Given the description of an element on the screen output the (x, y) to click on. 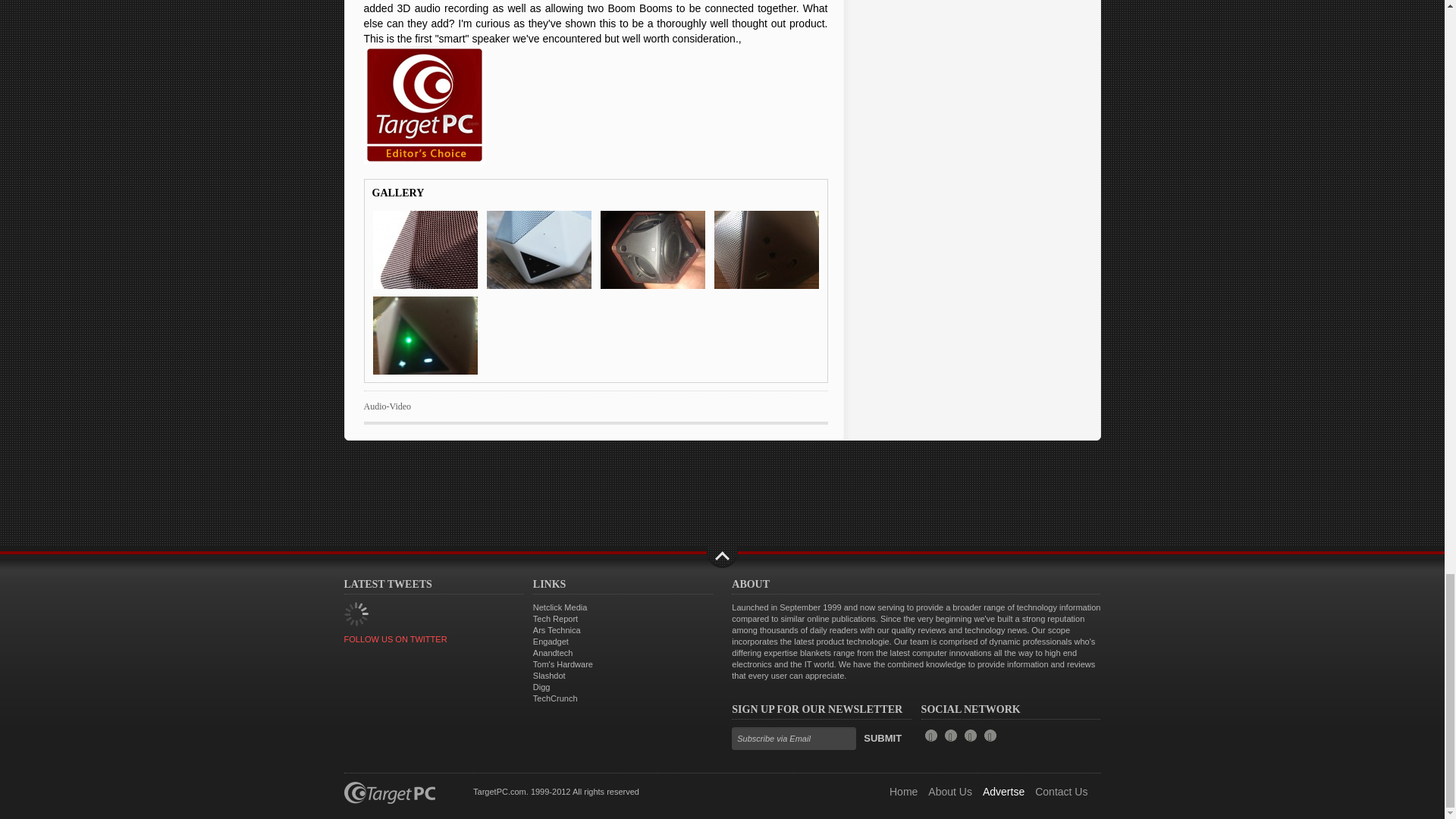
Audio-Video (388, 406)
Audio-Video (388, 406)
netclick (560, 606)
